Given the description of an element on the screen output the (x, y) to click on. 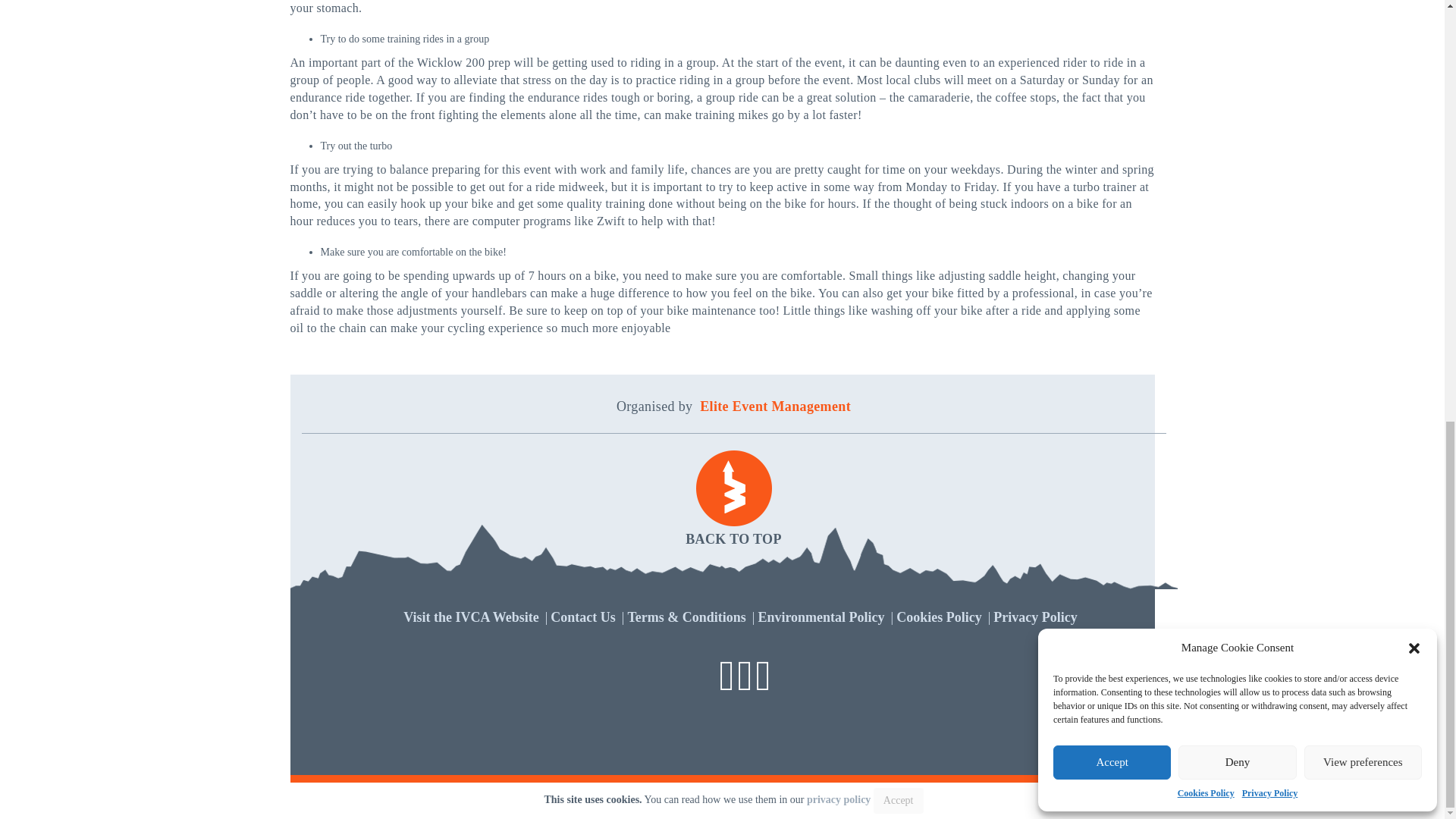
BACK TO TOP (733, 499)
Contact Us (582, 616)
Cookies Policy (938, 616)
Environmental Policy (820, 616)
Visit the IVCA Website (470, 616)
Privacy Policy (838, 799)
Elite Event Management (775, 406)
Privacy Policy (1034, 616)
Accept (898, 800)
